Given the description of an element on the screen output the (x, y) to click on. 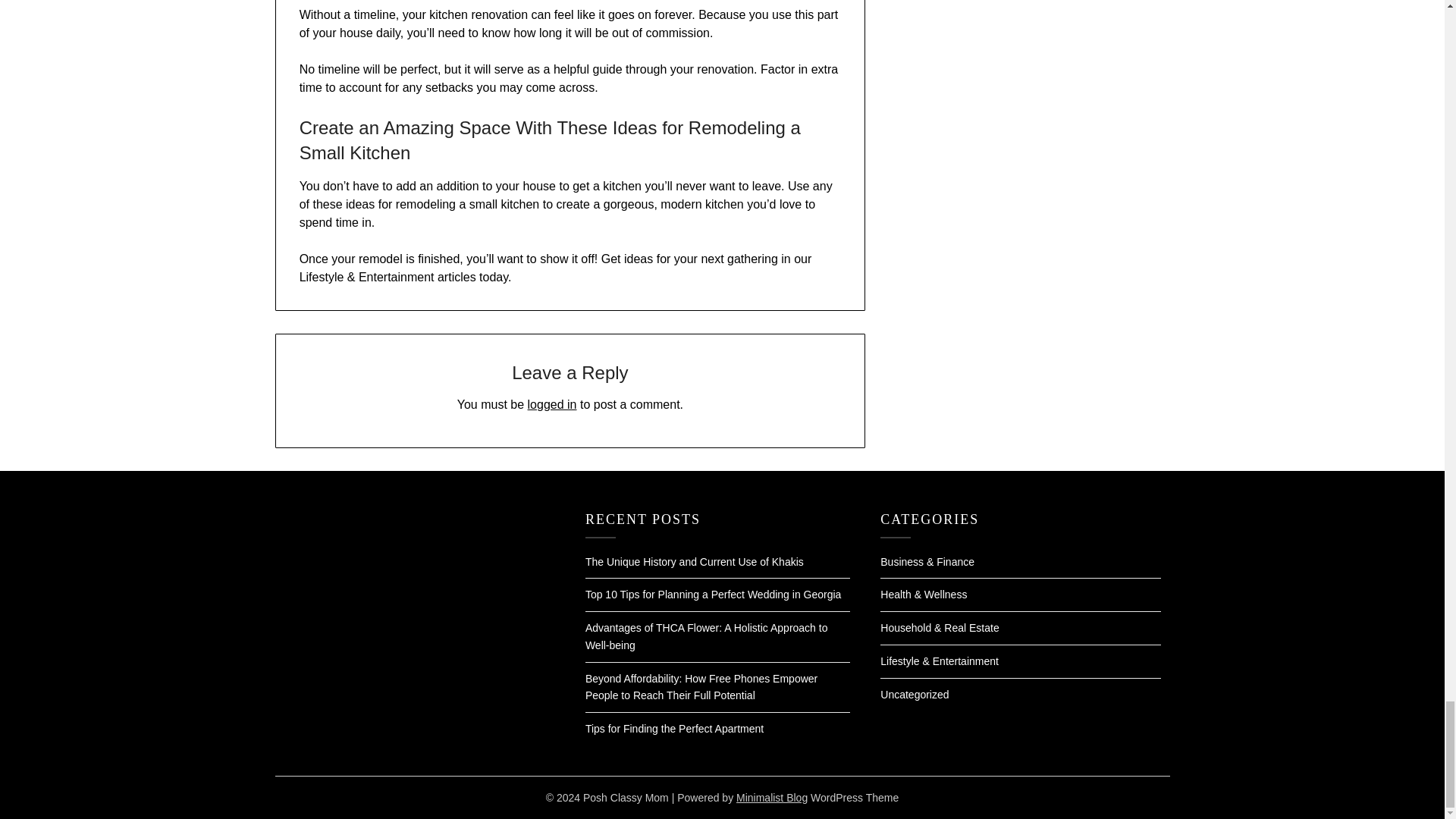
Tips for Finding the Perfect Apartment (673, 728)
logged in (551, 404)
Uncategorized (914, 694)
Minimalist Blog (772, 797)
The Unique History and Current Use of Khakis (694, 562)
Advantages of THCA Flower: A Holistic Approach to Well-being (706, 636)
Top 10 Tips for Planning a Perfect Wedding in Georgia (713, 594)
